Given the description of an element on the screen output the (x, y) to click on. 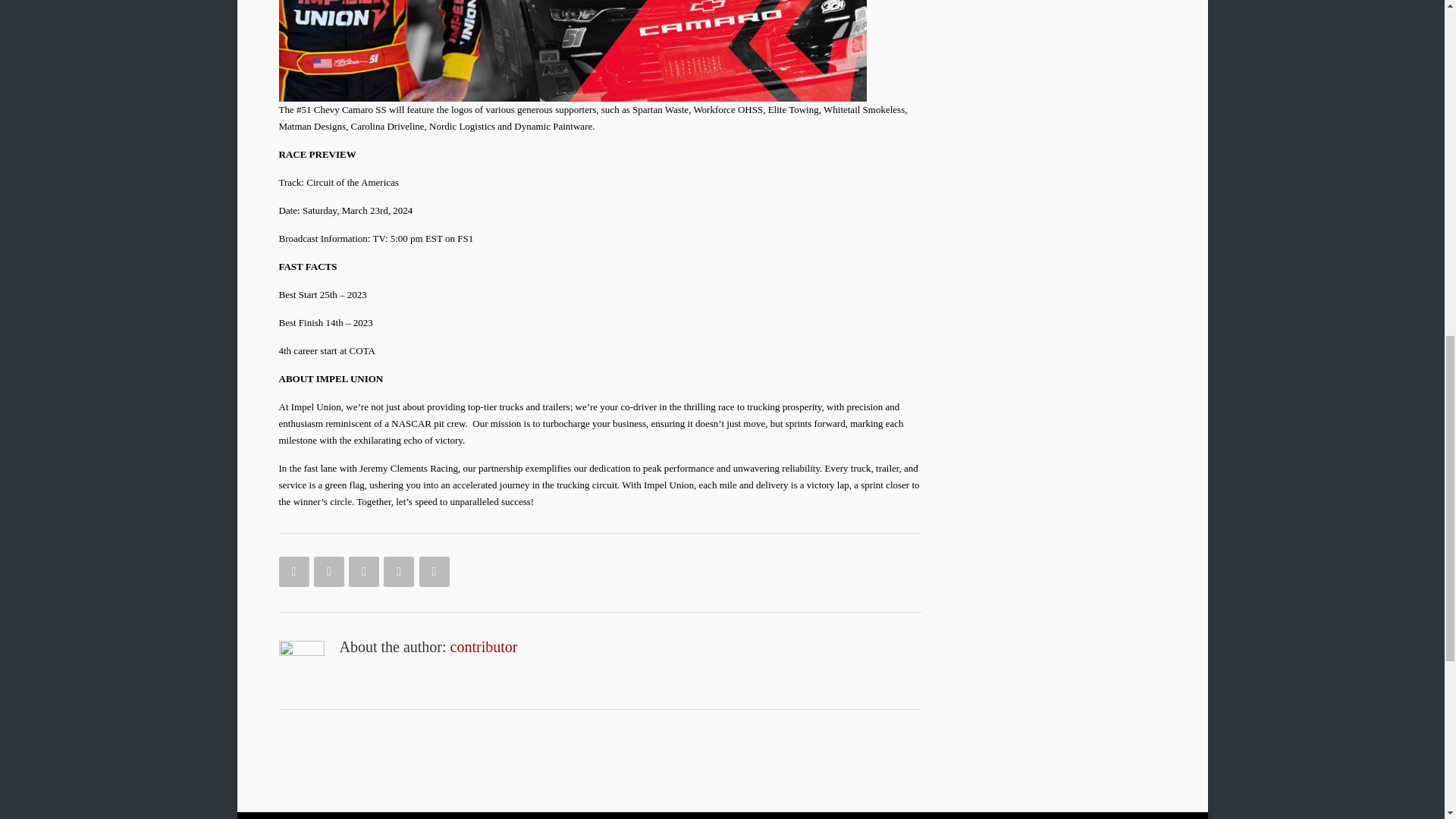
contributor (483, 646)
